Given the description of an element on the screen output the (x, y) to click on. 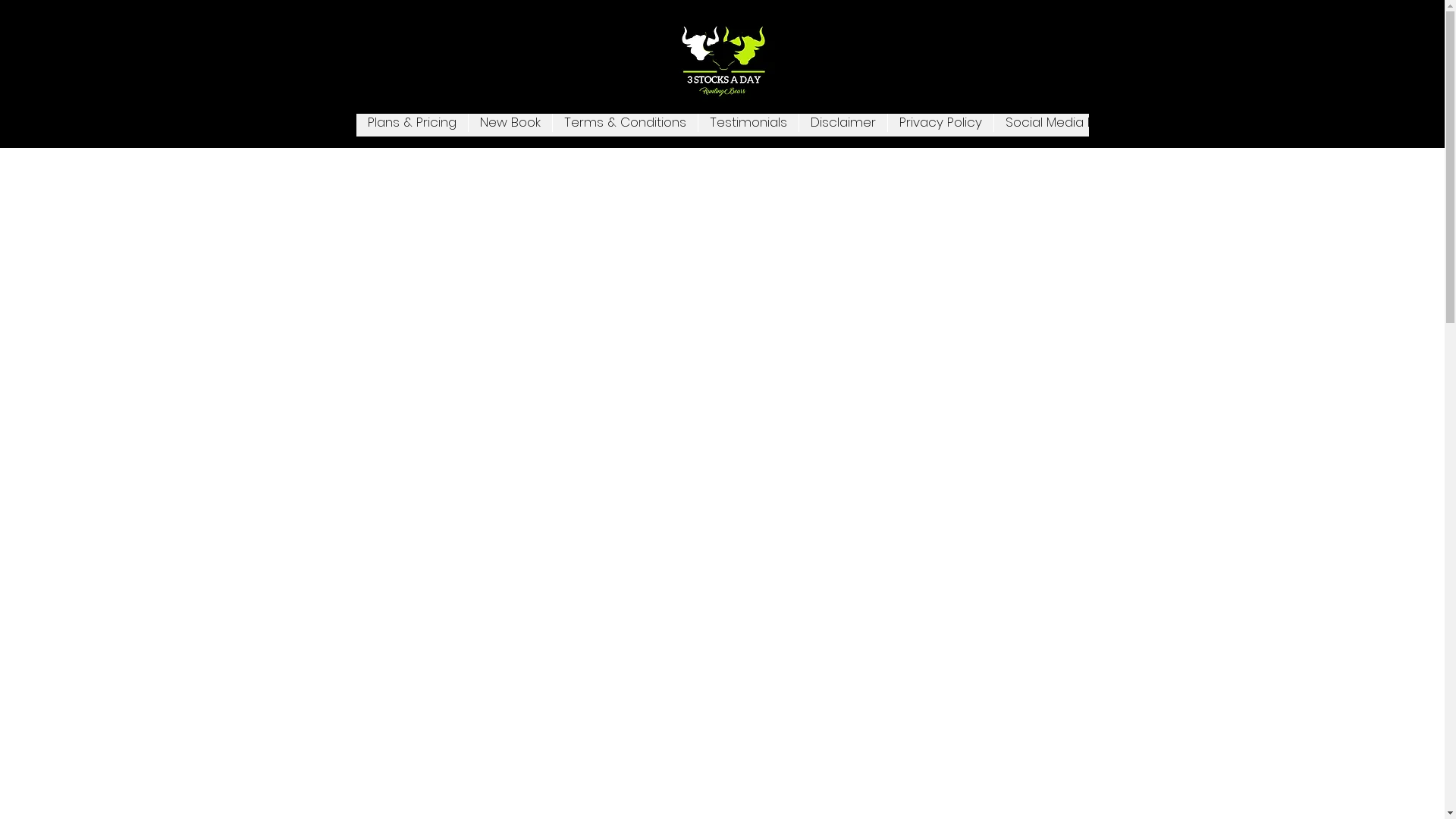
New Book Element type: text (509, 124)
Disclaimer Element type: text (841, 124)
Testimonials Element type: text (747, 124)
Privacy Policy Element type: text (940, 124)
Plans & Pricing Element type: text (411, 124)
Social Media Disclaimer Element type: text (1078, 124)
Terms & Conditions Element type: text (624, 124)
